Given the description of an element on the screen output the (x, y) to click on. 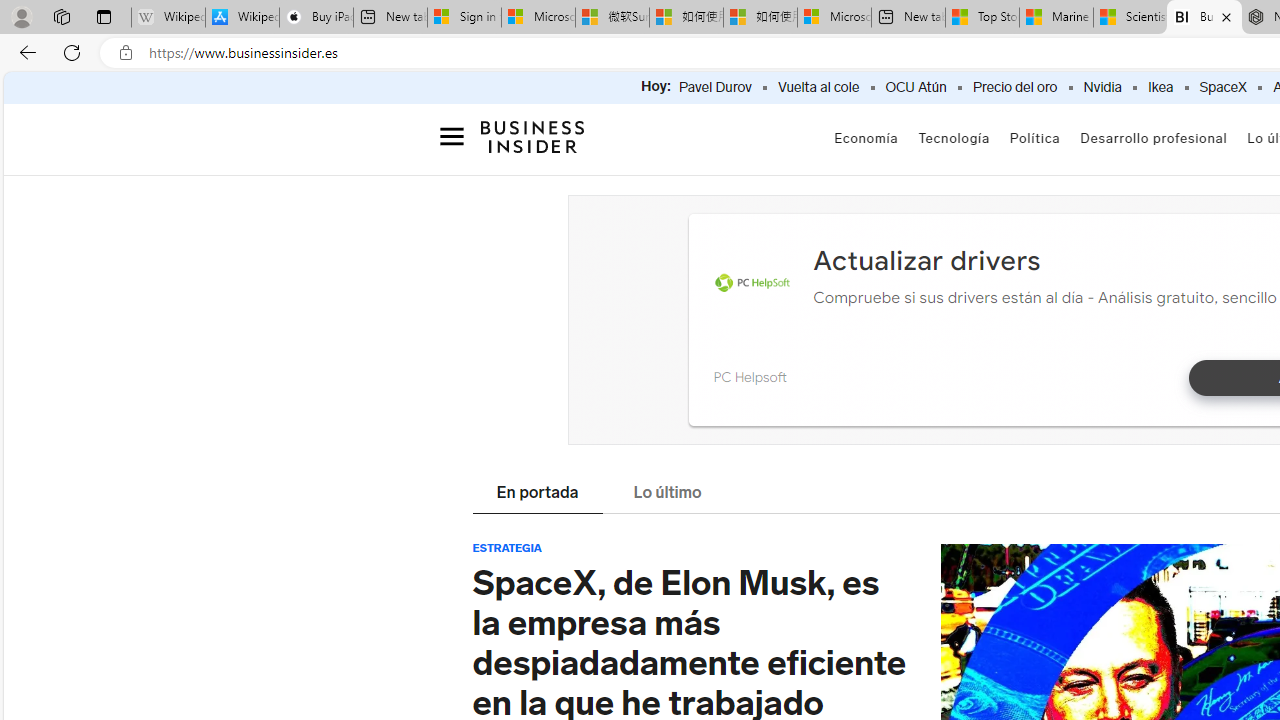
Desarrollo profesional (1153, 139)
Nvidia (1102, 88)
